Given the description of an element on the screen output the (x, y) to click on. 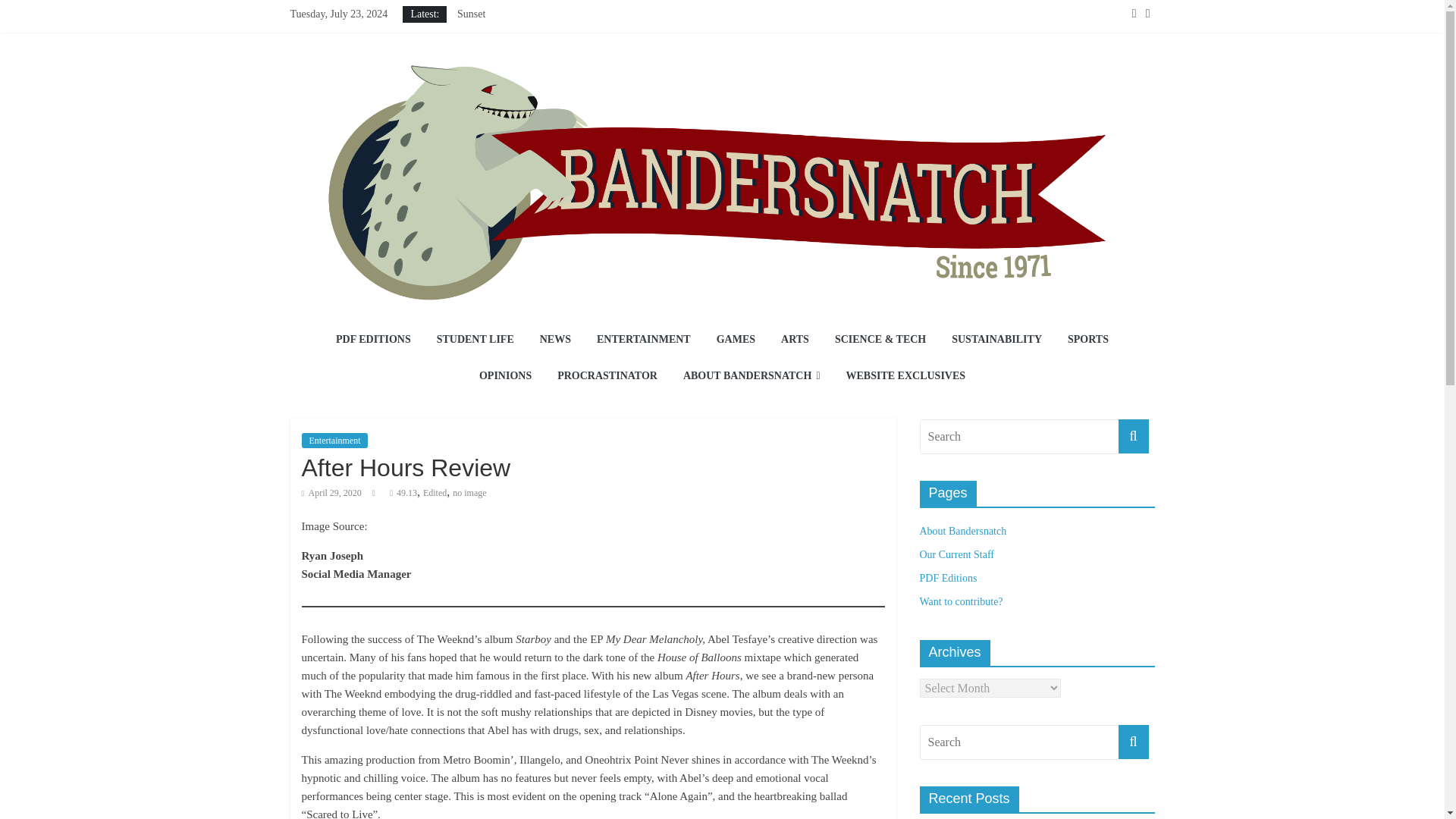
April 29, 2020 (331, 492)
49.13 (406, 492)
Dark Sky (477, 48)
Entertainment (334, 440)
GAMES (735, 340)
Dark Sky (477, 48)
OPINIONS (505, 376)
Lilypads (476, 81)
no image (469, 492)
ENTERTAINMENT (643, 340)
Sunset (470, 13)
PDF EDITIONS (373, 340)
12:03 am (331, 492)
Edited (434, 492)
WEBSITE EXCLUSIVES (905, 376)
